Given the description of an element on the screen output the (x, y) to click on. 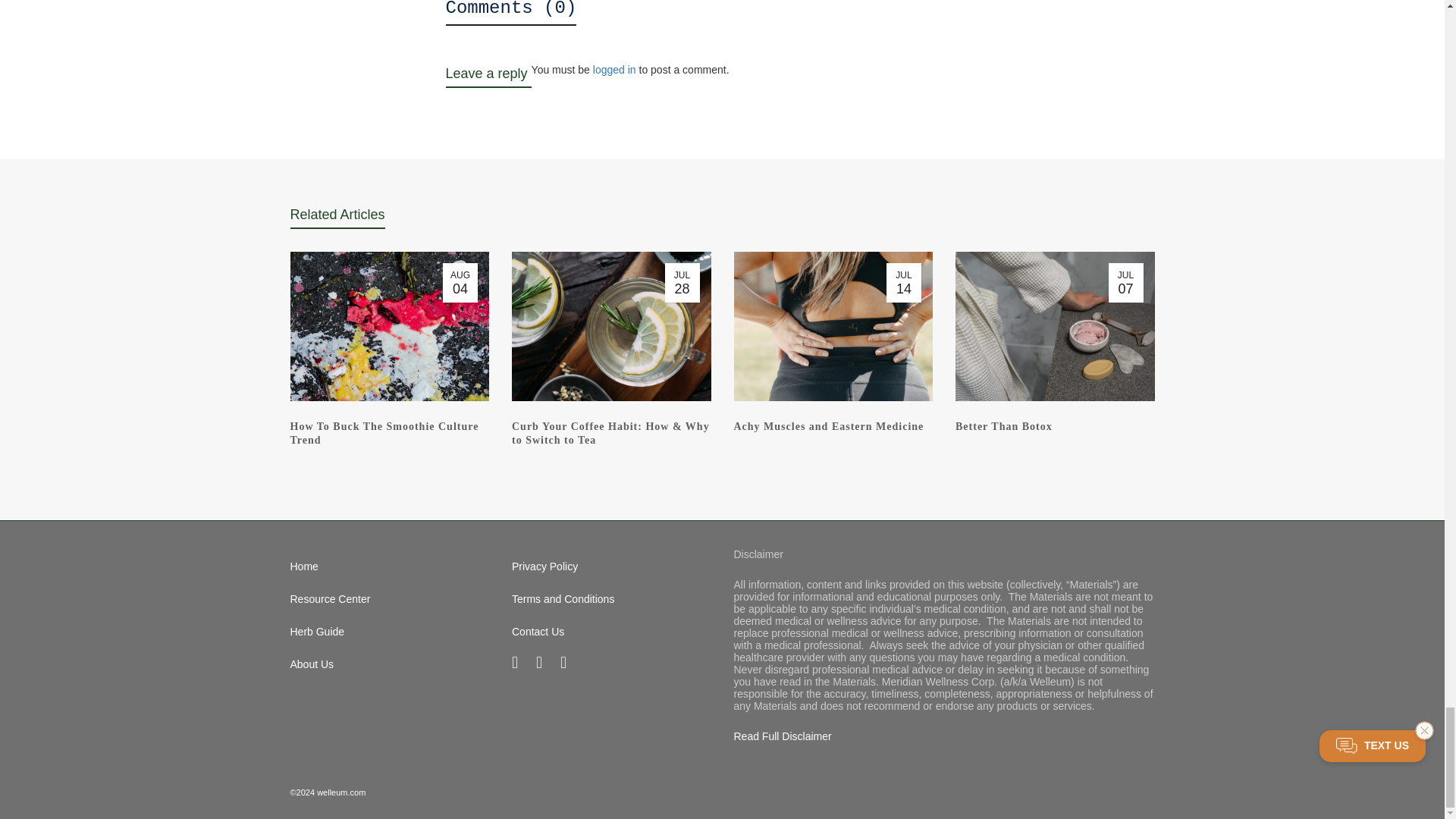
Achy Muscles and Eastern Medicine (828, 426)
Better Than Botox (1003, 426)
Home (389, 566)
Resource Center (389, 599)
logged in (614, 69)
How To Buck The Smoothie Culture Trend (384, 432)
